Given the description of an element on the screen output the (x, y) to click on. 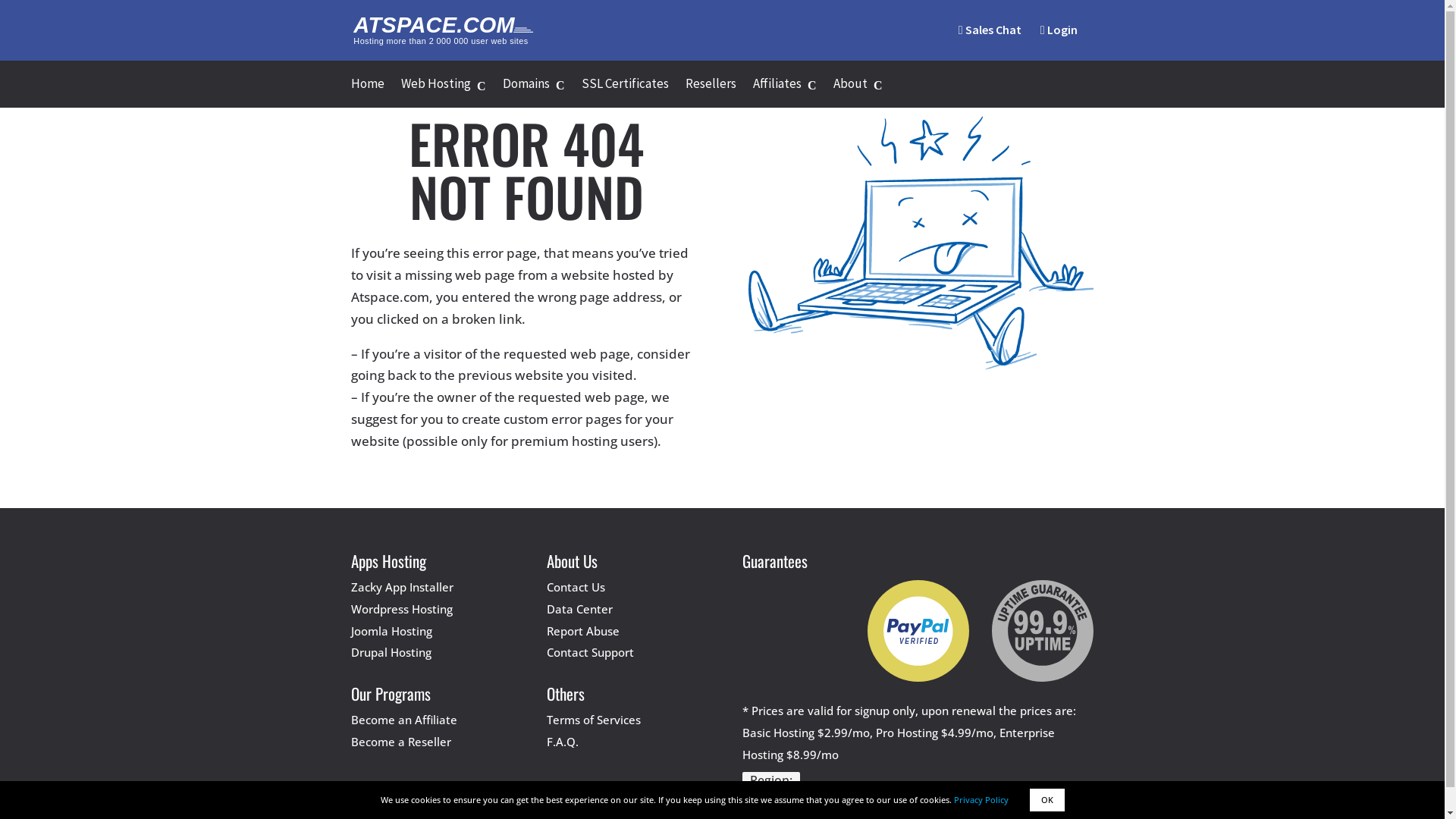
Domains Element type: text (533, 92)
Become an Affiliate Element type: text (403, 719)
Joomla Hosting Element type: text (390, 630)
Wordpress Hosting Element type: text (400, 608)
Zacky App Installer Element type: text (401, 586)
OK Element type: text (1046, 799)
Web Hosting Element type: text (442, 92)
Sales Chat Element type: text (989, 29)
Sales Chat Element type: text (989, 42)
SSL Certificates Element type: text (624, 92)
Affiliates Element type: text (783, 92)
Resellers Element type: text (710, 92)
Terms of Services Element type: text (593, 719)
Report Abuse Element type: text (582, 630)
F.A.Q. Element type: text (562, 741)
Contact Us Element type: text (575, 586)
Login Element type: text (1058, 42)
Drupal Hosting Element type: text (390, 651)
Home Element type: text (366, 92)
Privacy Policy Element type: text (980, 799)
Become a Reseller Element type: text (400, 741)
Contact Support Element type: text (589, 651)
Data Center Element type: text (579, 608)
About Element type: text (856, 92)
